Given the description of an element on the screen output the (x, y) to click on. 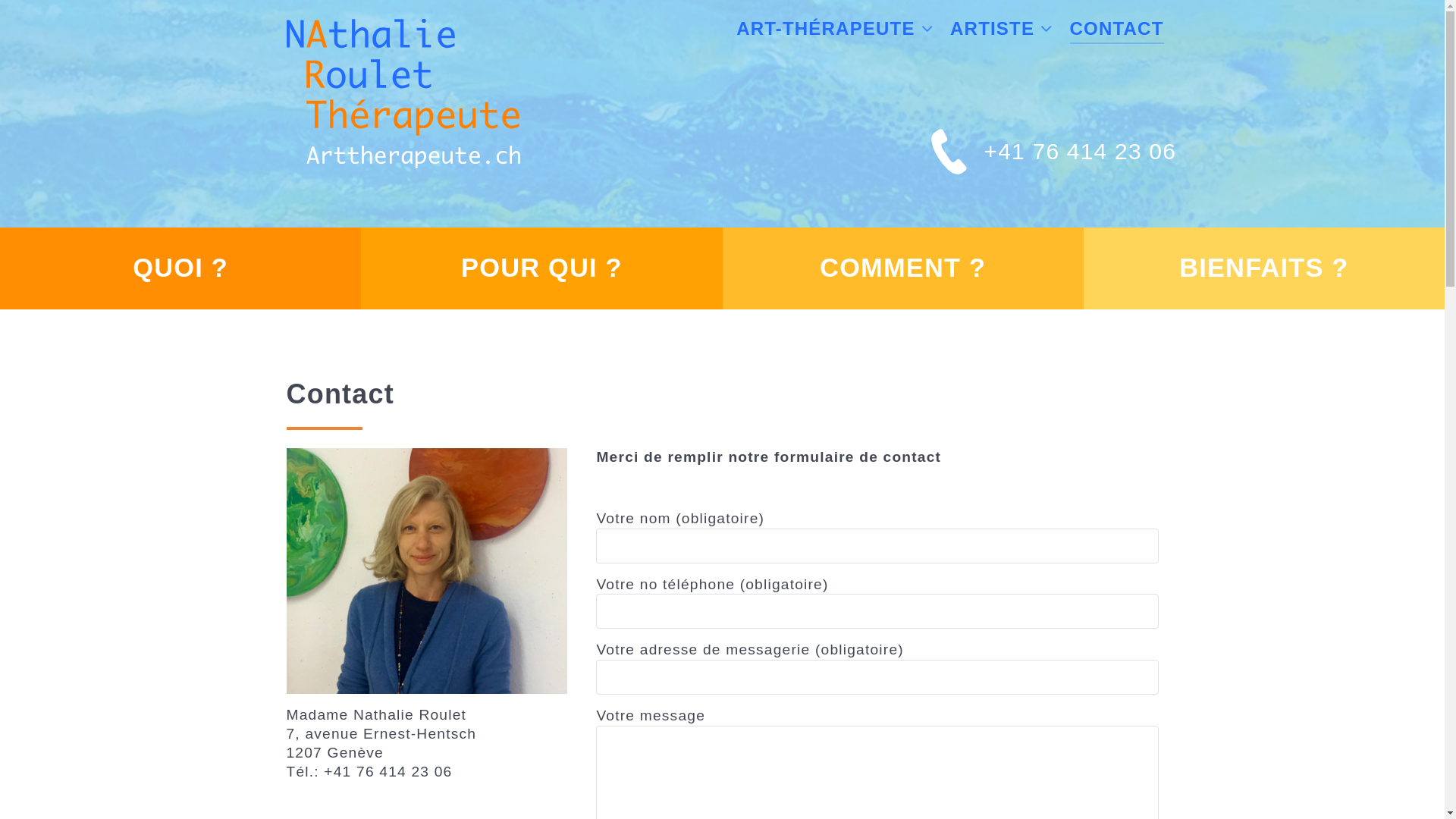
QUOI ? Element type: text (180, 267)
BIENFAITS ? Element type: text (1263, 267)
POUR QUI ? Element type: text (541, 267)
CONTACT Element type: text (1117, 29)
COMMENT ? Element type: text (902, 267)
+41 76 414 23 06 Element type: text (1080, 150)
